Given the description of an element on the screen output the (x, y) to click on. 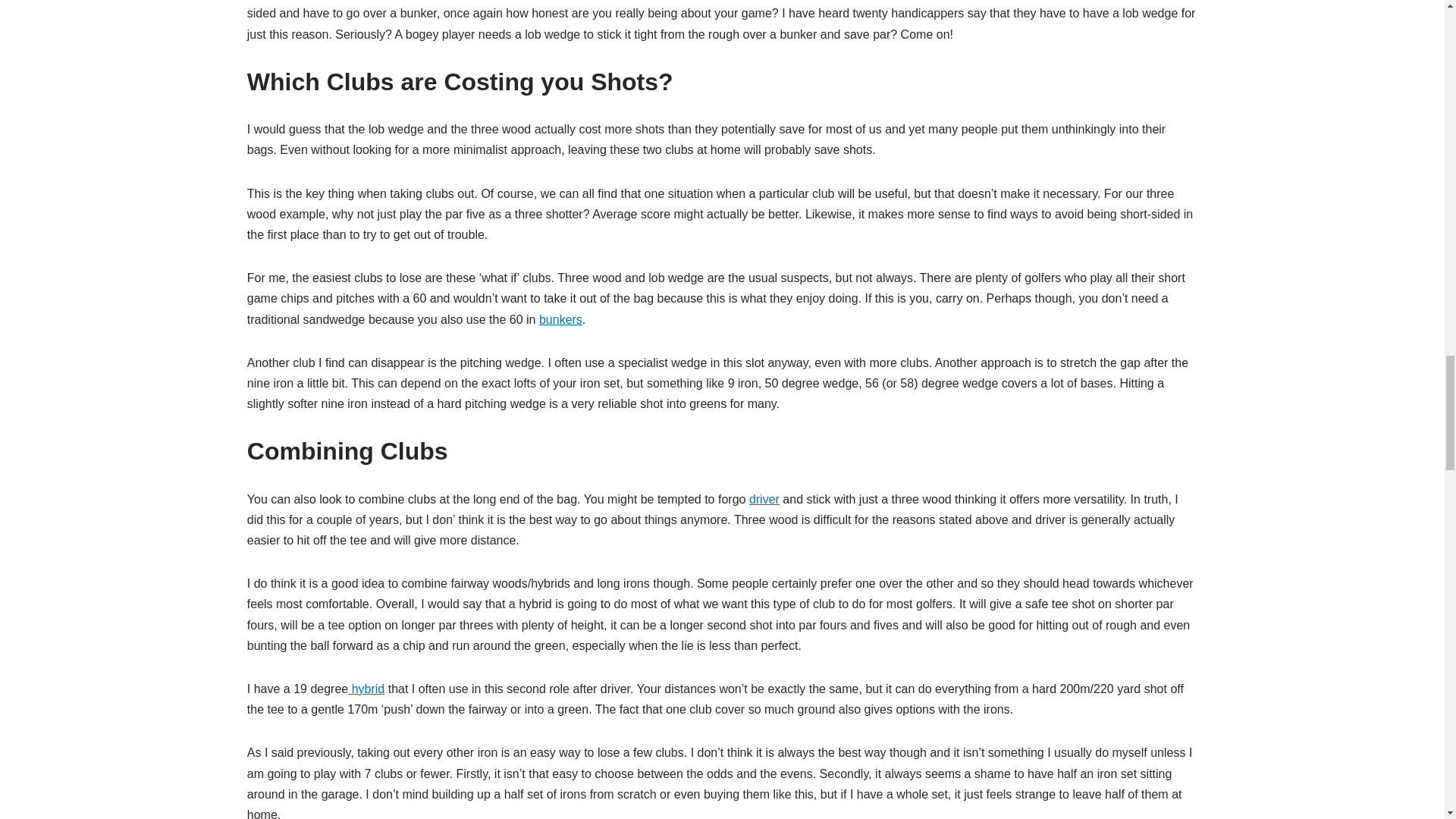
bunkers (560, 318)
hybrid (365, 688)
driver (763, 499)
